Given the description of an element on the screen output the (x, y) to click on. 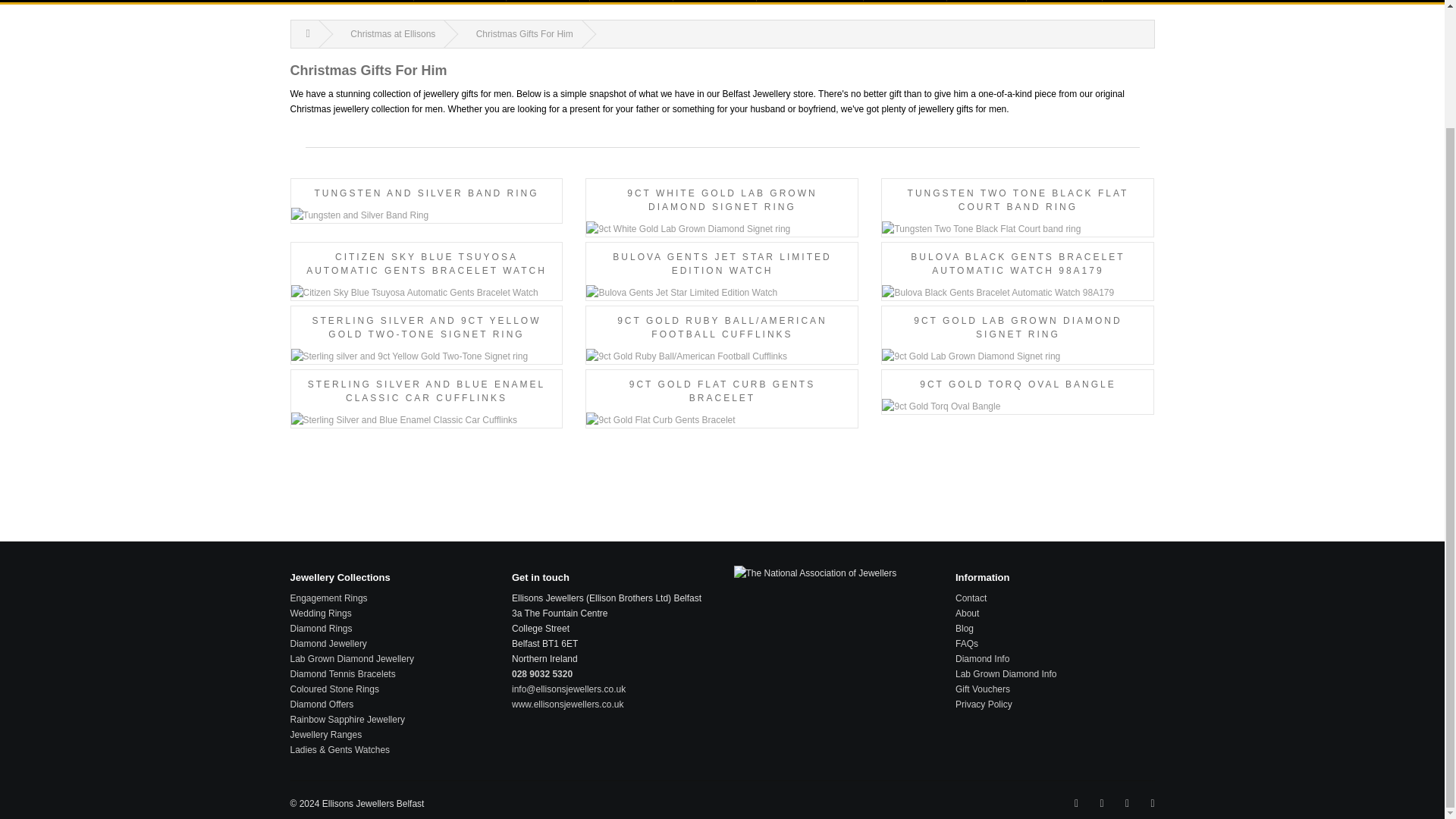
Design your Wedding Ring (630, 0)
BULOVA GENTS JET STAR LIMITED EDITION WATCH (721, 275)
9CT GOLD LAB GROWN DIAMOND SIGNET RING (1017, 338)
9CT GOLD TORQ OVAL BANGLE (1017, 395)
9CT GOLD FLAT CURB GENTS BRACELET (721, 402)
Sterling silver and 9ct Yellow Gold Two-Tone Signet ring (426, 338)
STERLING SILVER AND 9CT YELLOW GOLD TWO-TONE SIGNET RING (426, 338)
Tungsten Two Tone Black Flat Court band ring (1017, 211)
BULOVA BLACK GENTS BRACELET AUTOMATIC WATCH 98A179 (1017, 275)
Citizen Sky Blue Tsuyosa Automatic Gents Bracelet Watch (426, 275)
Bulova Black Gents Bracelet Automatic Watch 98A179 (1017, 292)
Diamond Special Offers (904, 0)
Tungsten and Silver Band Ring (426, 215)
Christmas Gifts For Him (524, 33)
CITIZEN SKY BLUE TSUYOSA AUTOMATIC GENTS BRACELET WATCH (426, 275)
